Given the description of an element on the screen output the (x, y) to click on. 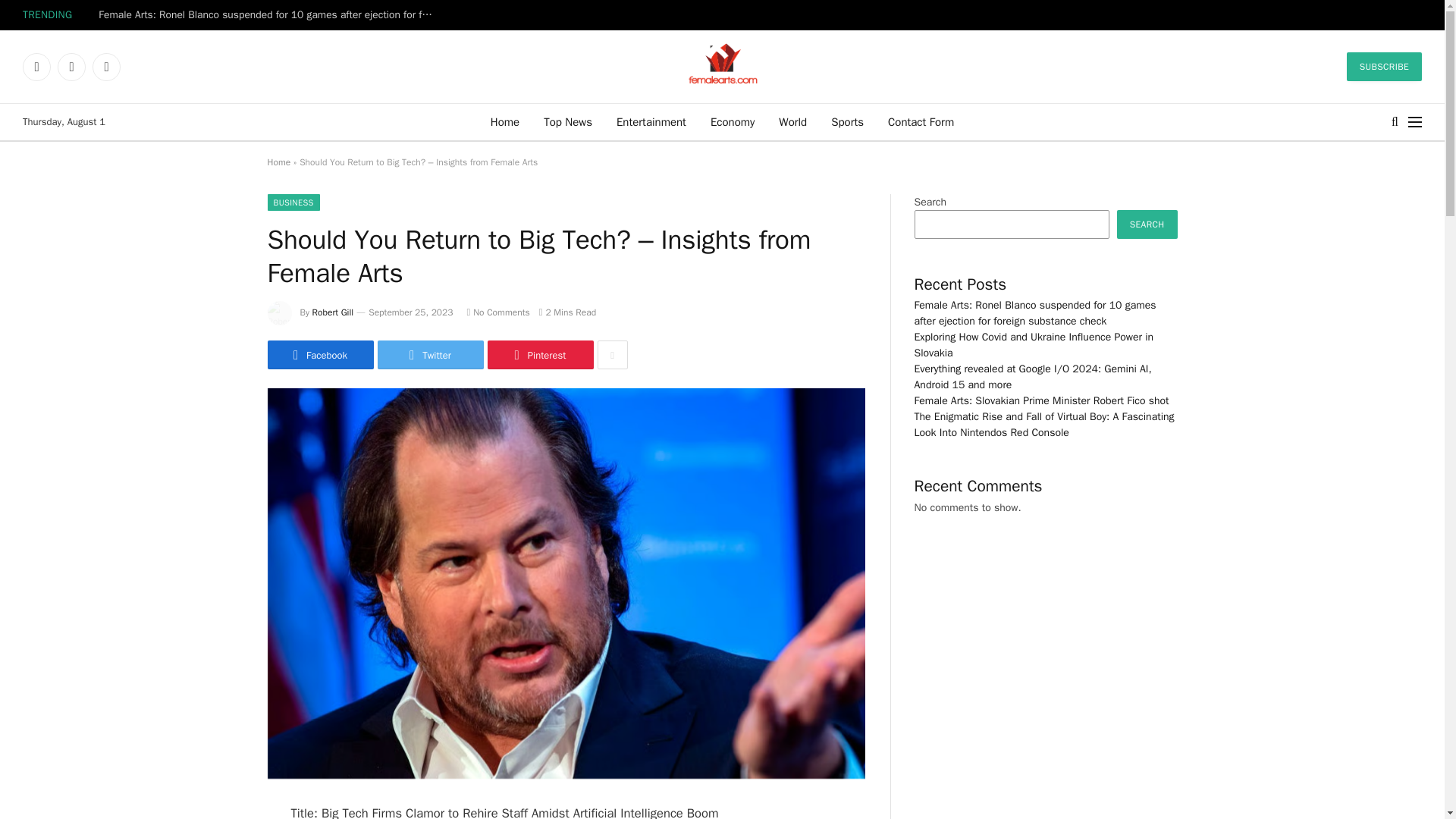
SUBSCRIBE (1384, 66)
Share on Pinterest (539, 354)
Posts by Robert Gill (333, 312)
Share on Facebook (319, 354)
Sports (847, 122)
Top News (567, 122)
Economy (732, 122)
Entertainment (651, 122)
World (792, 122)
Contact Form (921, 122)
Home (505, 122)
Instagram (106, 67)
Female Arts (721, 66)
Home (277, 162)
Facebook (36, 67)
